Given the description of an element on the screen output the (x, y) to click on. 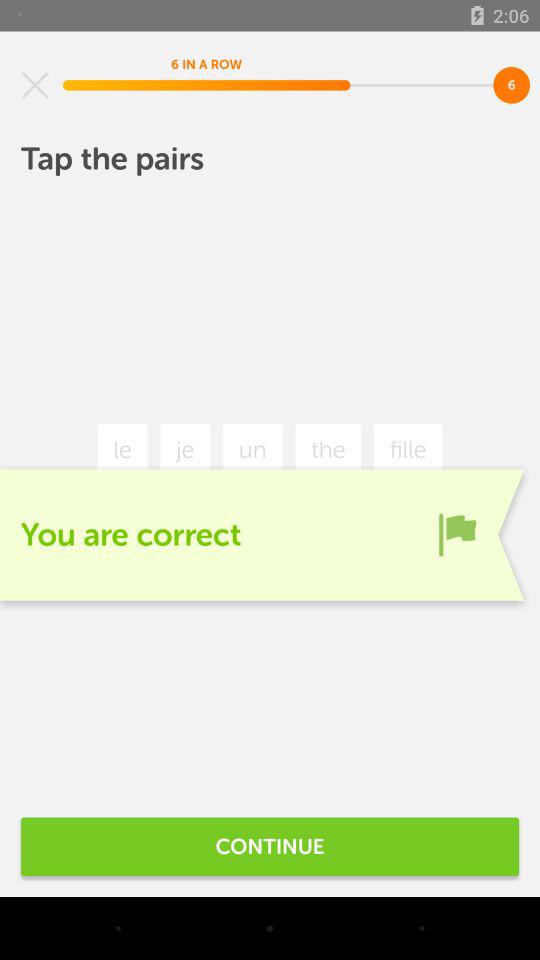
turn off the continue (270, 846)
